Given the description of an element on the screen output the (x, y) to click on. 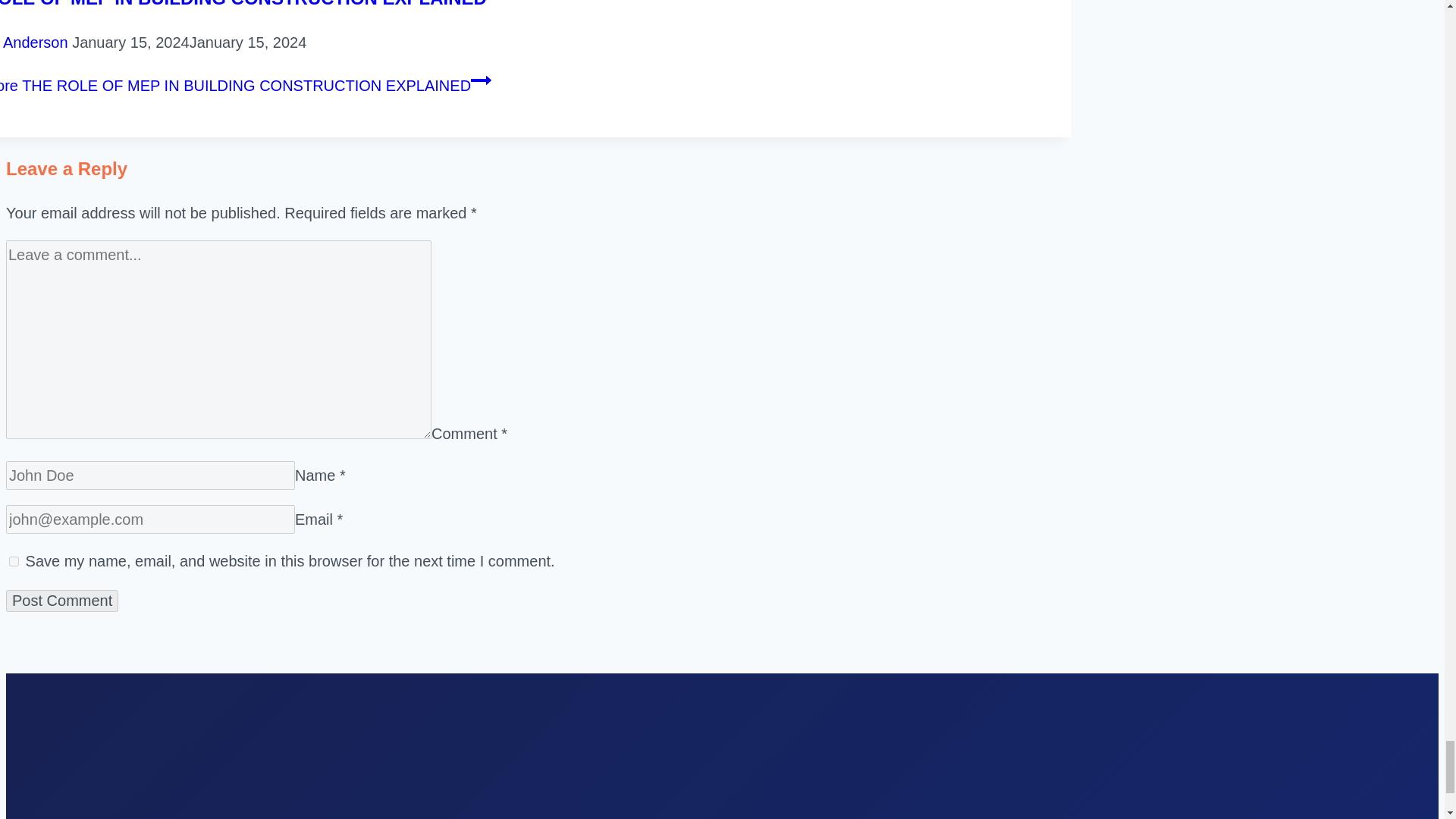
Continue (481, 79)
yes (13, 561)
Post Comment (61, 600)
